Given the description of an element on the screen output the (x, y) to click on. 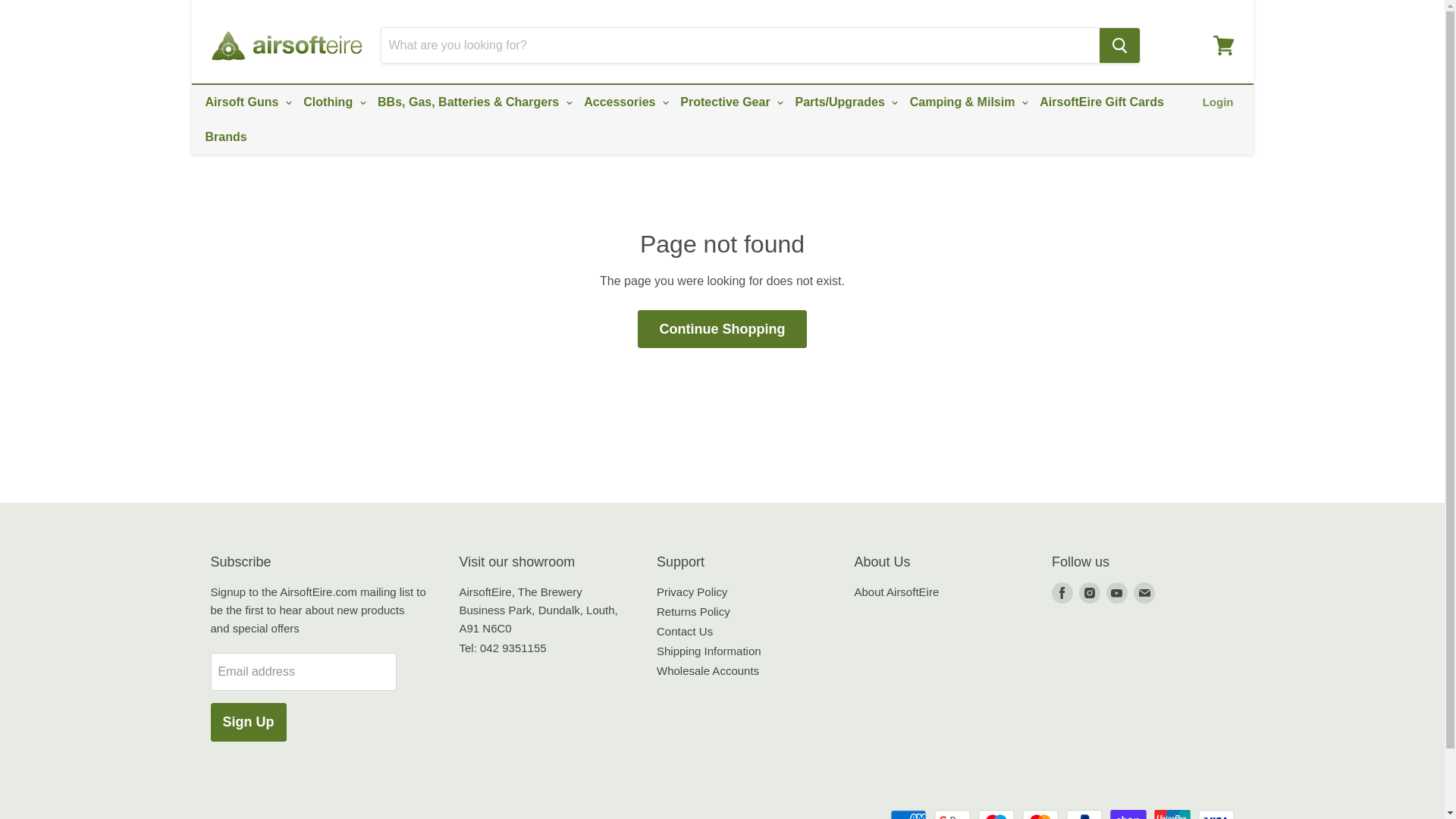
American Express (907, 814)
View cart (1223, 45)
Youtube (1117, 592)
PayPal (1083, 814)
Shop Pay (1128, 814)
Returns Policy (693, 611)
Wholesale Accounts (707, 670)
Clothing (332, 101)
Instagram (1089, 592)
Privacy Policy (691, 591)
